Given the description of an element on the screen output the (x, y) to click on. 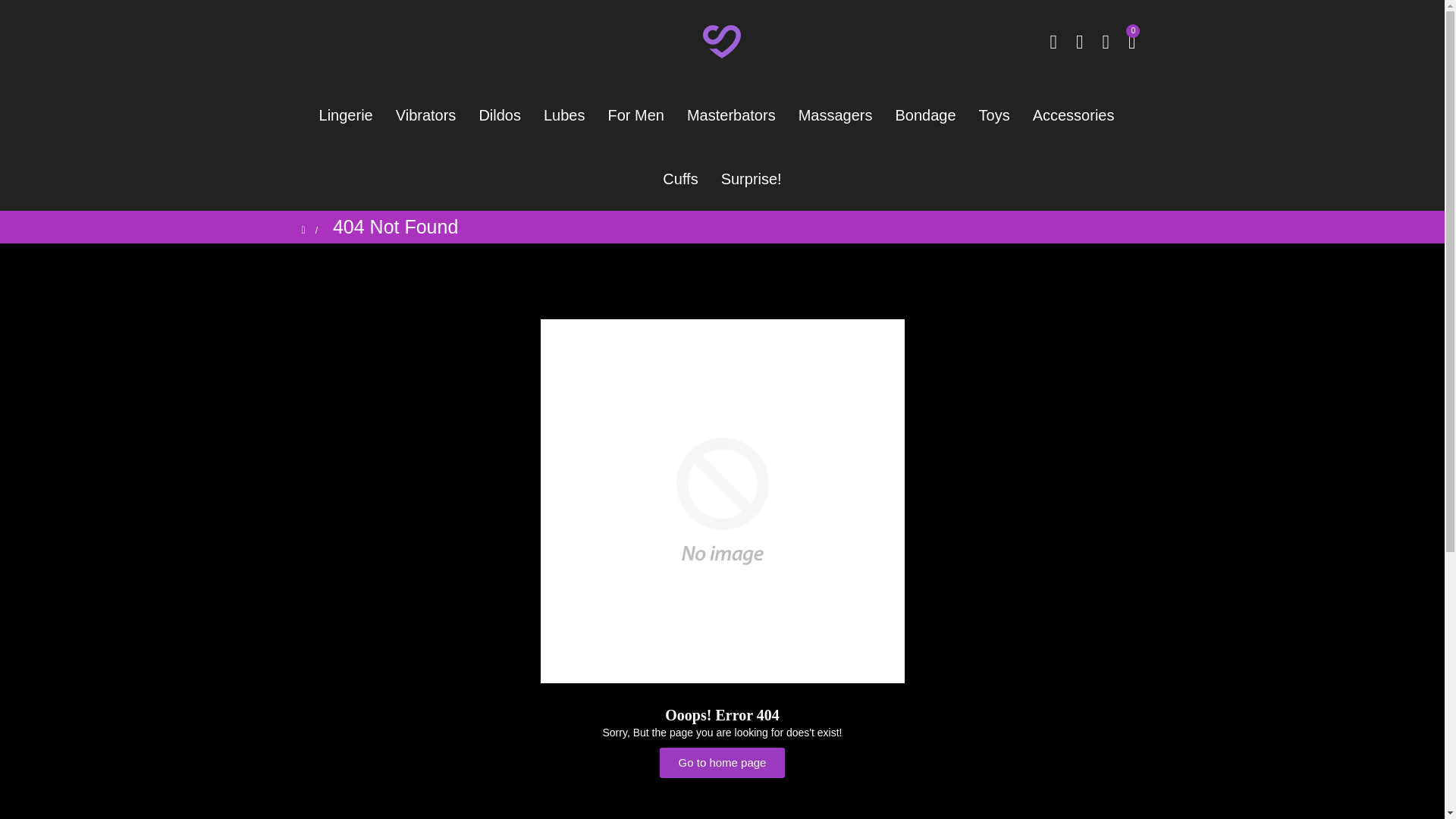
Surprise! (751, 178)
Masterbators (731, 115)
For Men (635, 115)
Accessories (1073, 115)
Vibrators (425, 115)
Lubes (564, 115)
Massagers (835, 115)
Dildos (499, 115)
Lingerie (351, 115)
Cuffs (679, 178)
Bondage (924, 115)
